Given the description of an element on the screen output the (x, y) to click on. 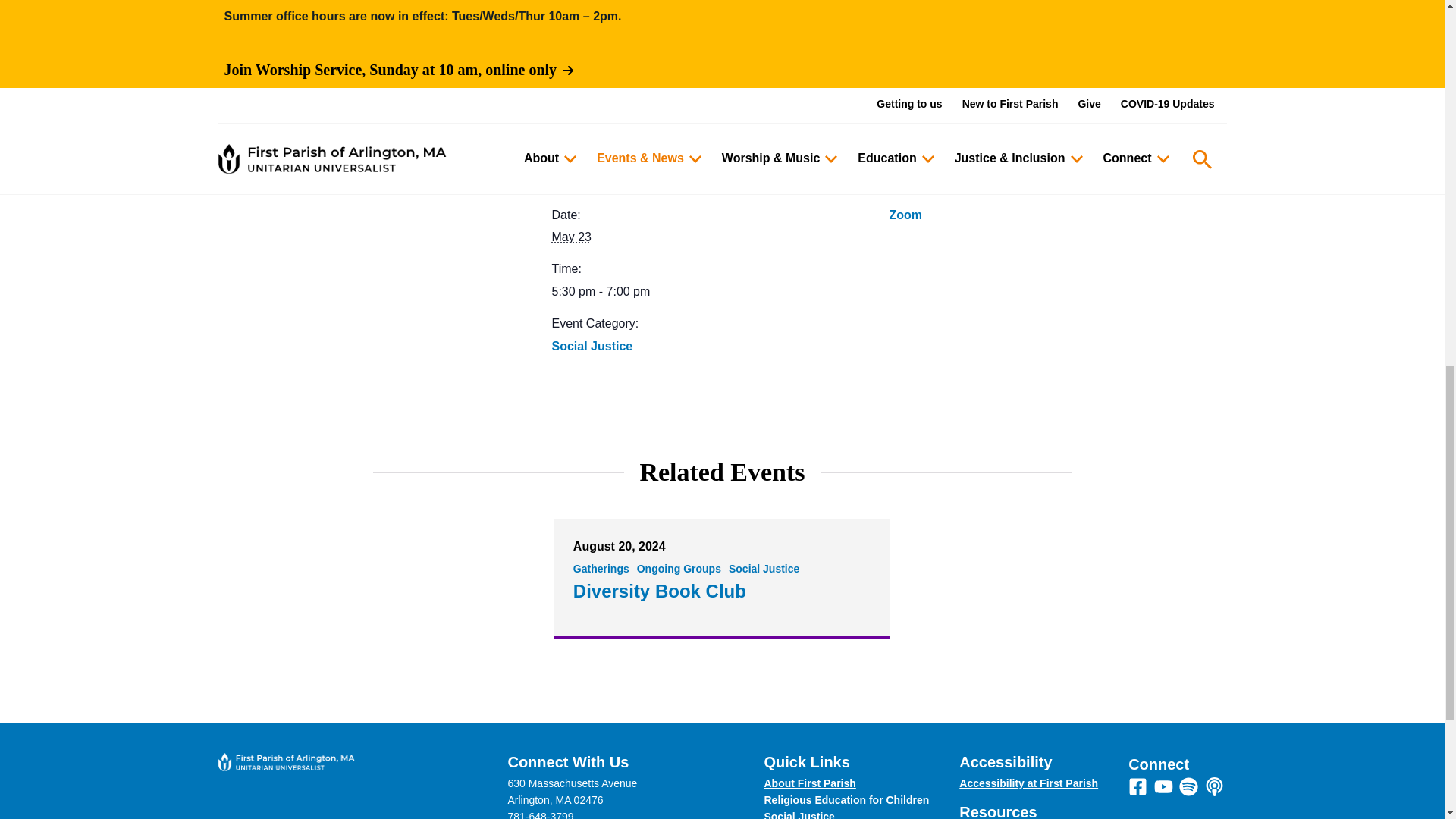
2024-05-23 (571, 236)
2024-05-23 (710, 291)
